Given the description of an element on the screen output the (x, y) to click on. 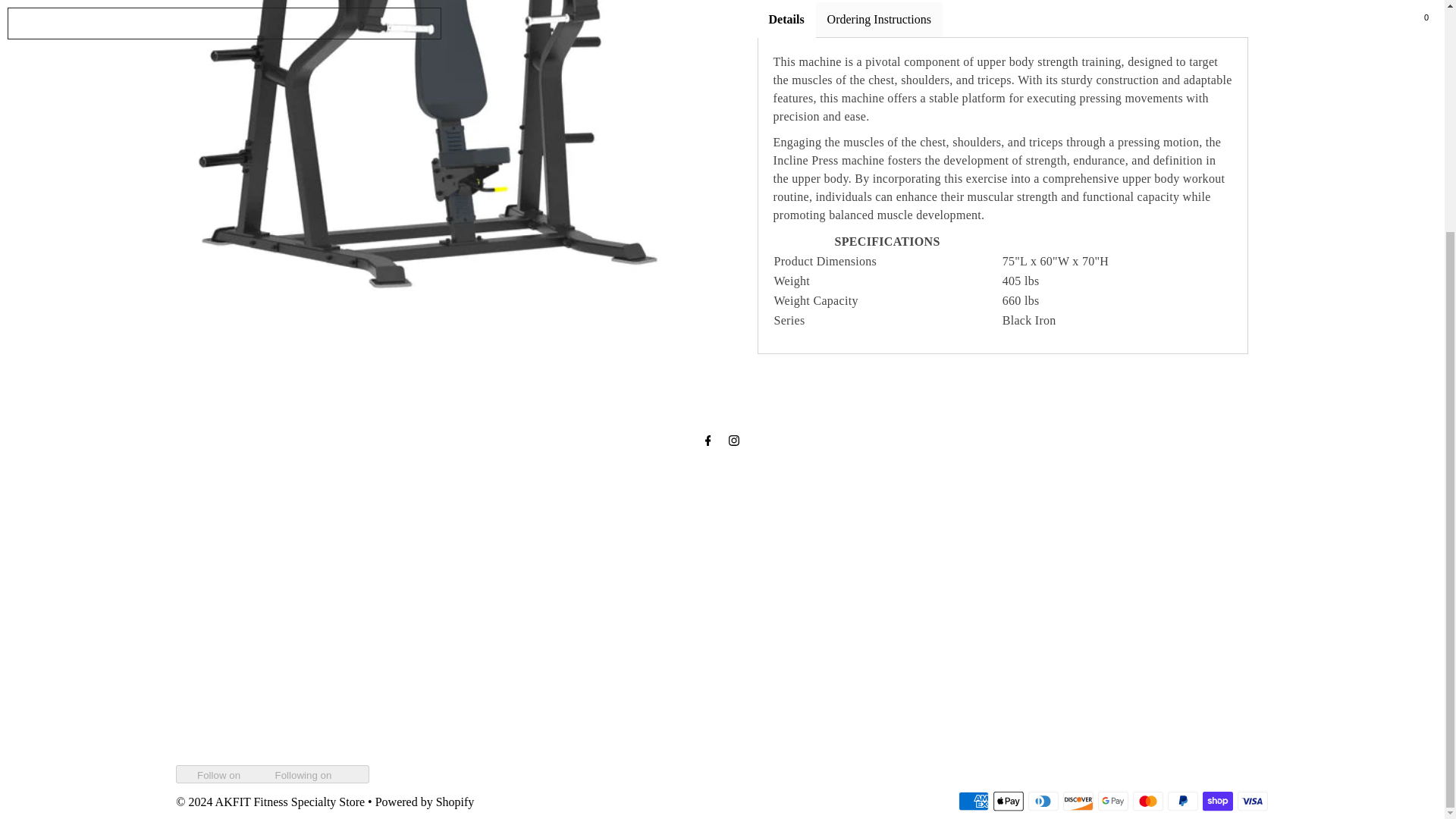
American Express (973, 800)
Mastercard (1147, 800)
Discover (1077, 800)
Google Pay (1112, 800)
Diners Club (1042, 800)
Apple Pay (1007, 800)
